Given the description of an element on the screen output the (x, y) to click on. 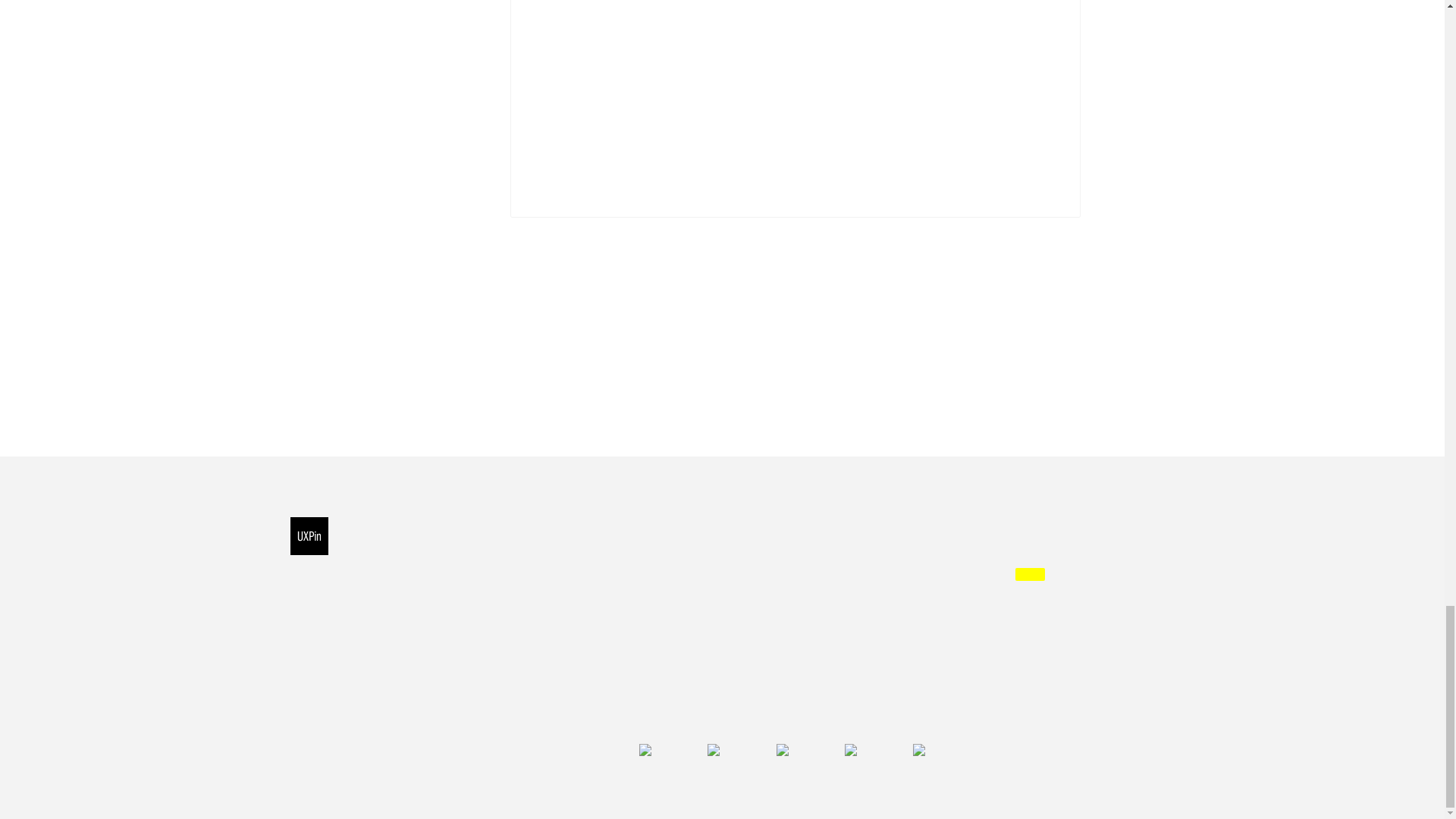
UXPin for Windows (690, 573)
Blog (824, 621)
Pricing (528, 597)
Twitter (733, 749)
Customers (538, 549)
Medium (871, 749)
Carousel (557, 389)
Webinars (837, 671)
Mirror for iOS (675, 597)
UXPin for Mac (677, 549)
Video Tutorials (852, 573)
Dribbble (802, 749)
Enterprise (536, 573)
Docs (826, 549)
E-books (834, 646)
